Given the description of an element on the screen output the (x, y) to click on. 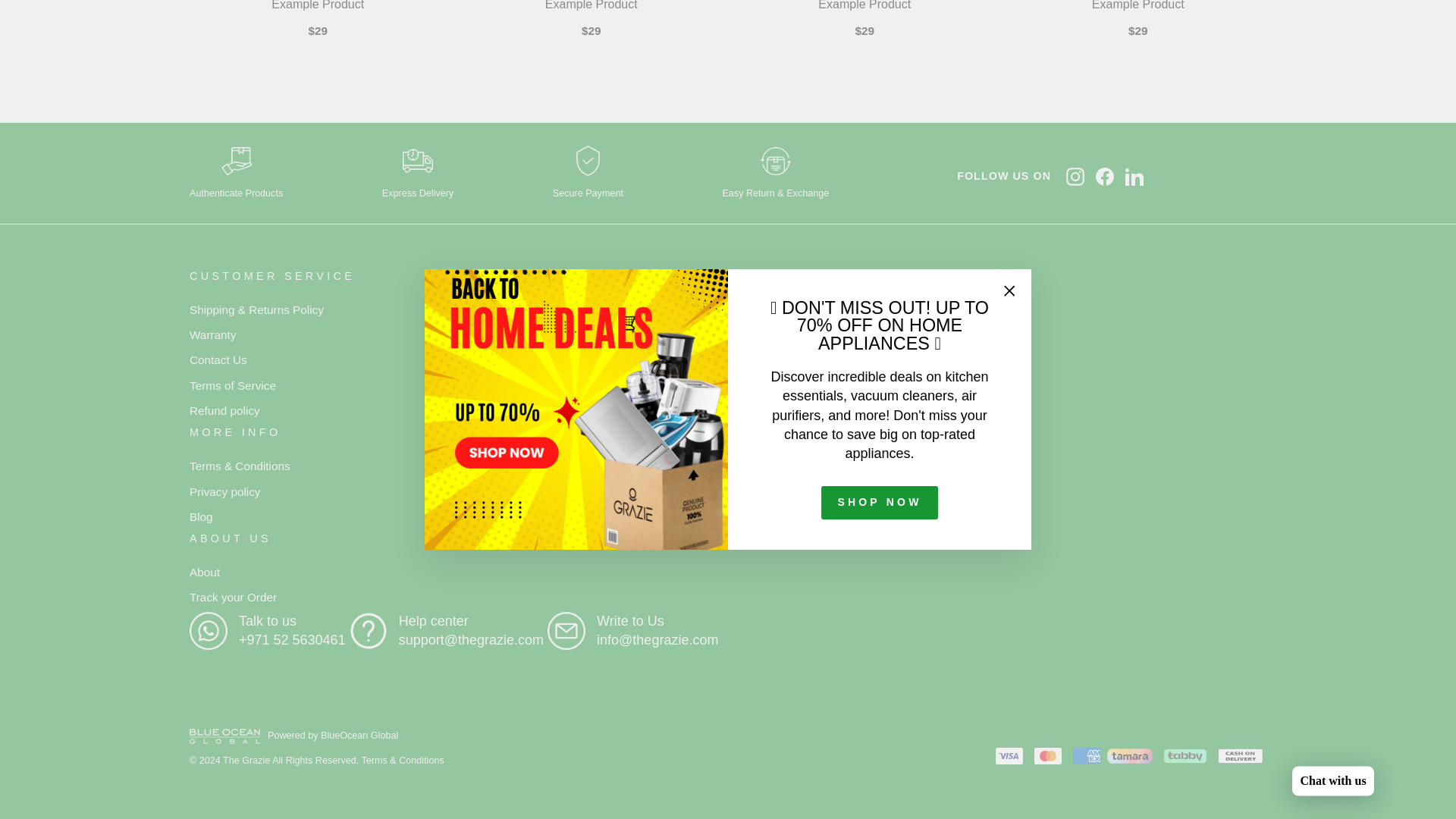
Mastercard (1047, 755)
American Express (1085, 755)
Visa (1008, 755)
